Given the description of an element on the screen output the (x, y) to click on. 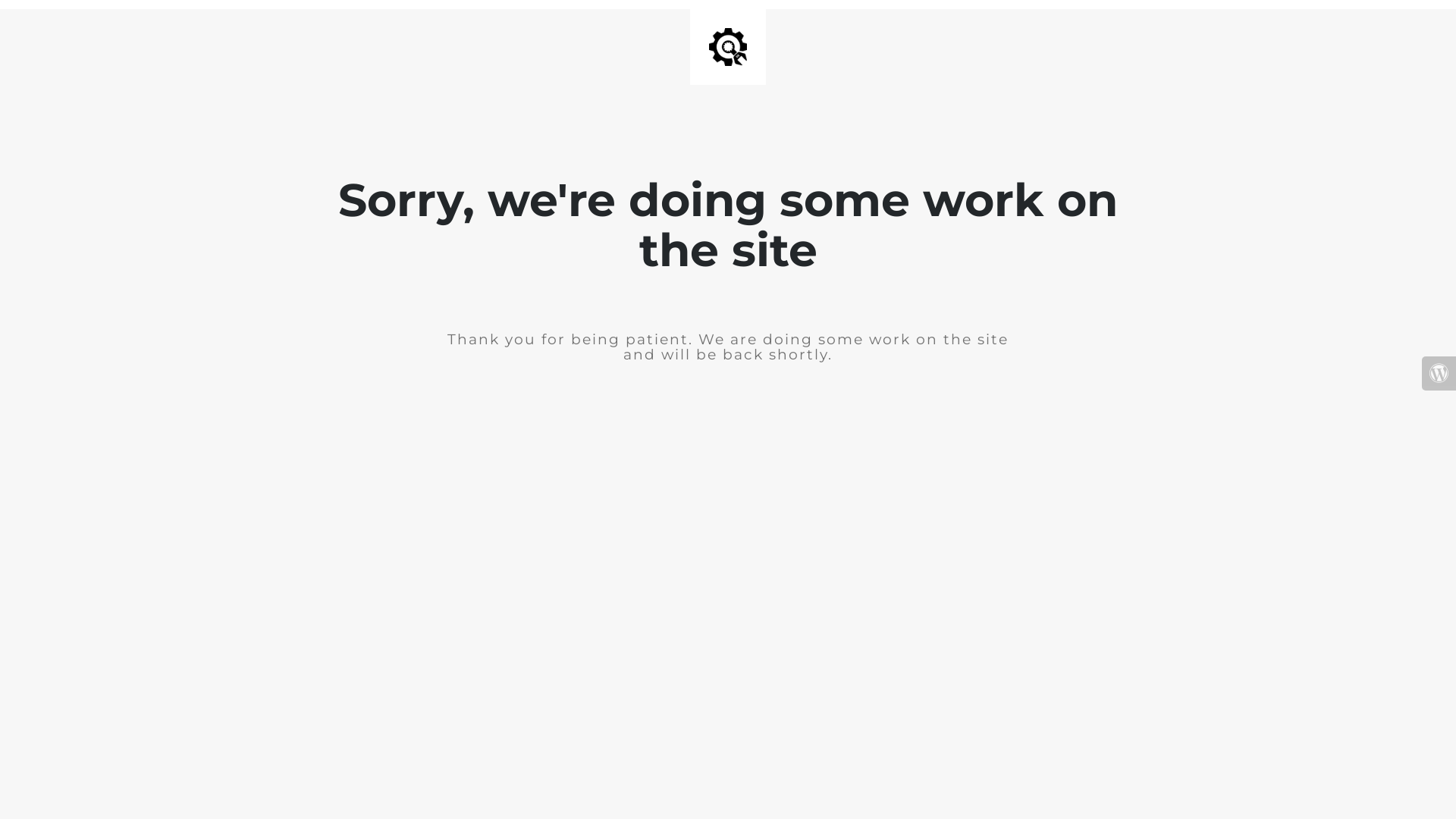
Site is Under Construction Element type: hover (727, 46)
